Given the description of an element on the screen output the (x, y) to click on. 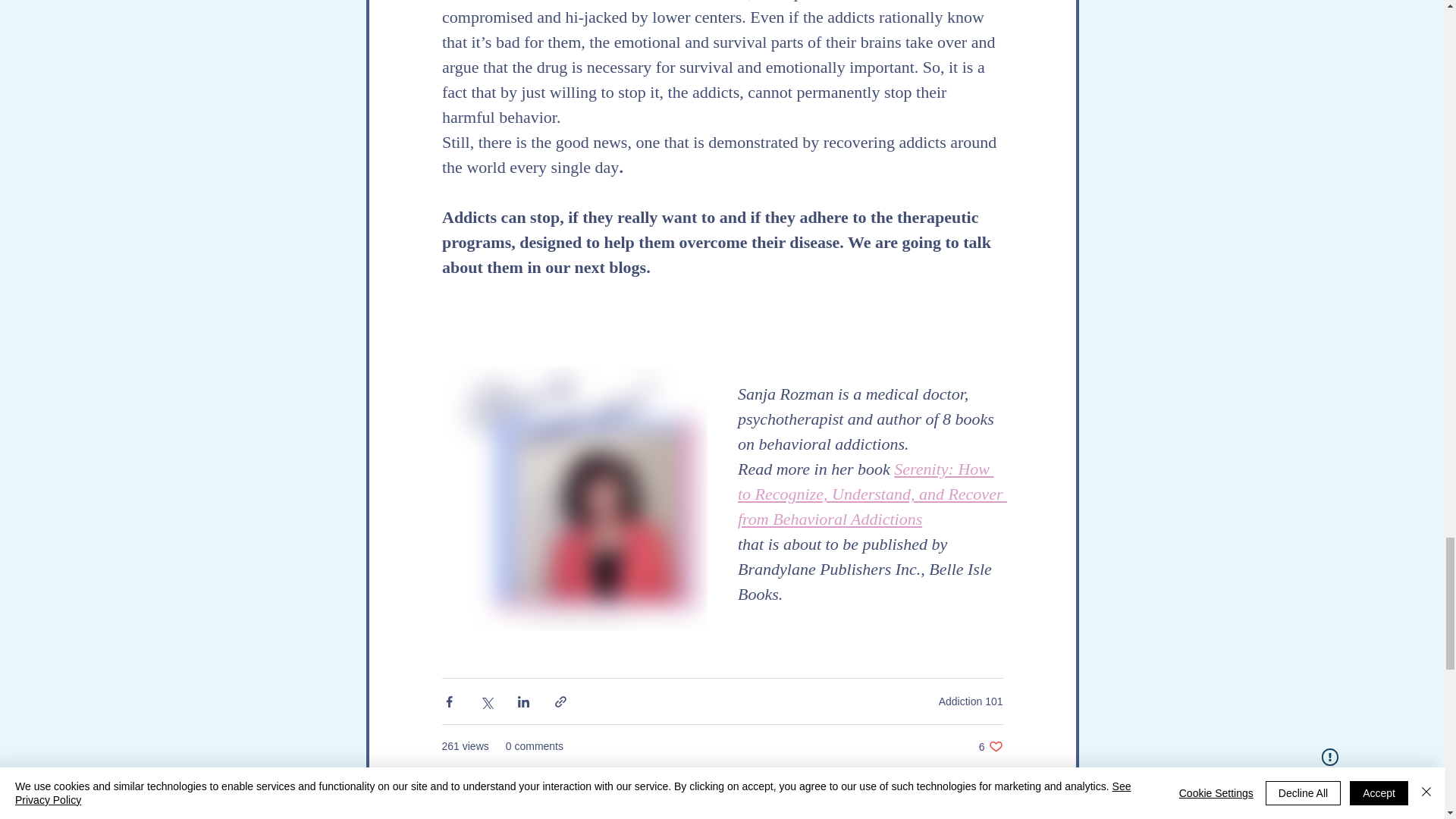
Addiction 101 (990, 746)
